Given the description of an element on the screen output the (x, y) to click on. 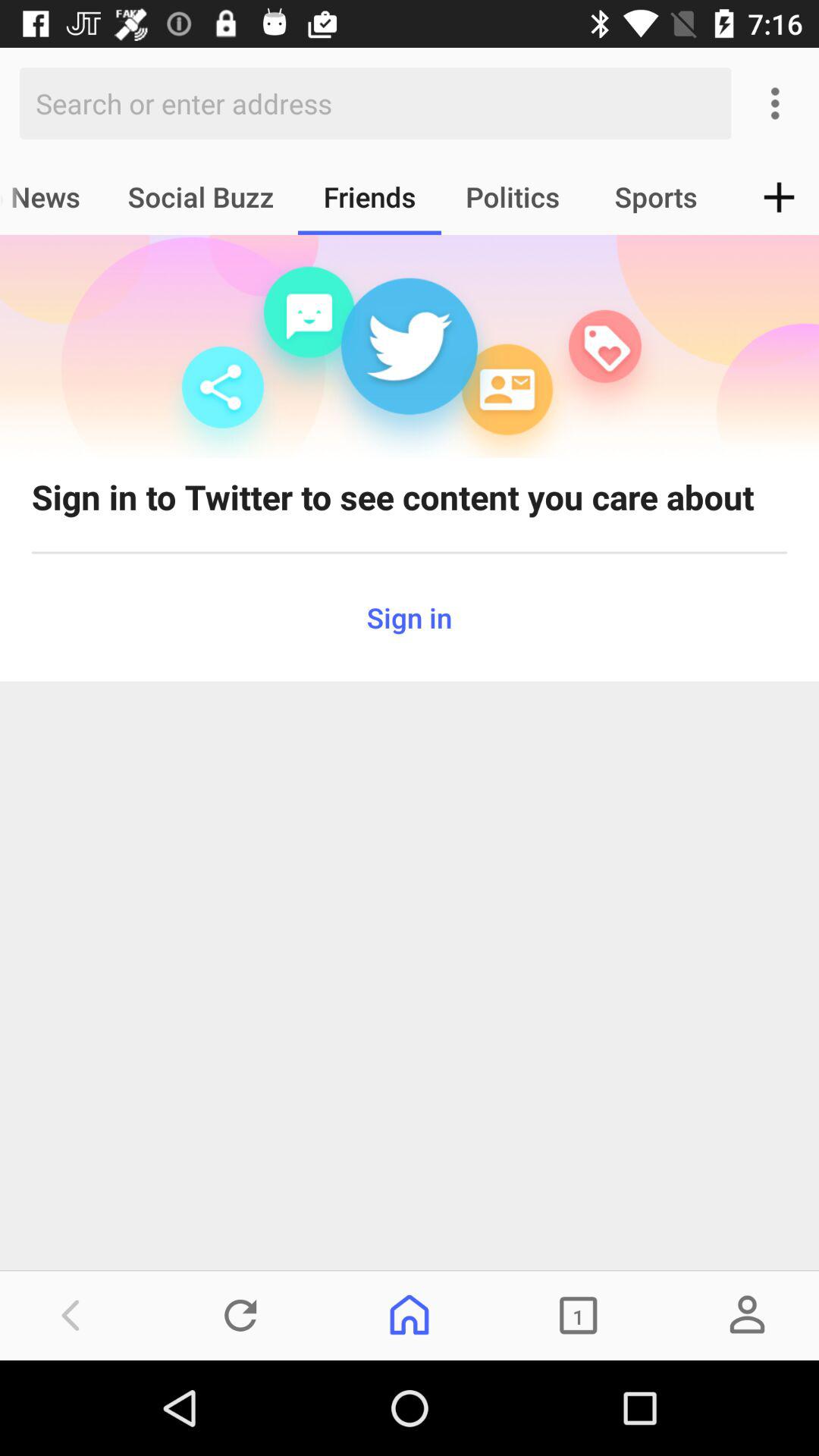
launch icon next to the sports item (779, 196)
